Given the description of an element on the screen output the (x, y) to click on. 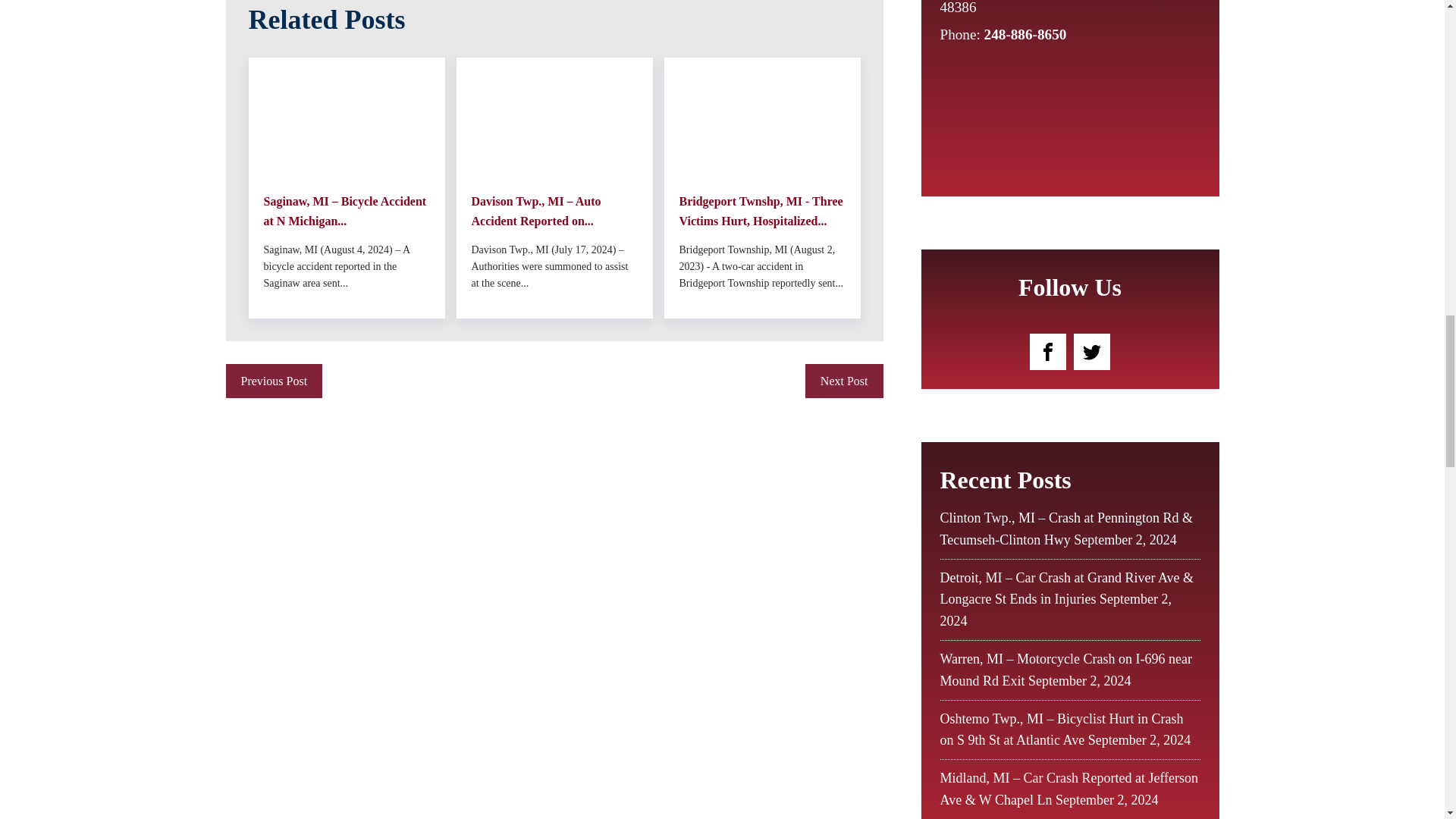
Bridgeport Twnshp, MI - Three Victims Hurt, Hospitalized... (762, 210)
9750 Highland Road White Lake, MI 48386 (1056, 9)
248-886-8650 (1025, 34)
Previous Post (274, 380)
Next Post (844, 380)
